Given the description of an element on the screen output the (x, y) to click on. 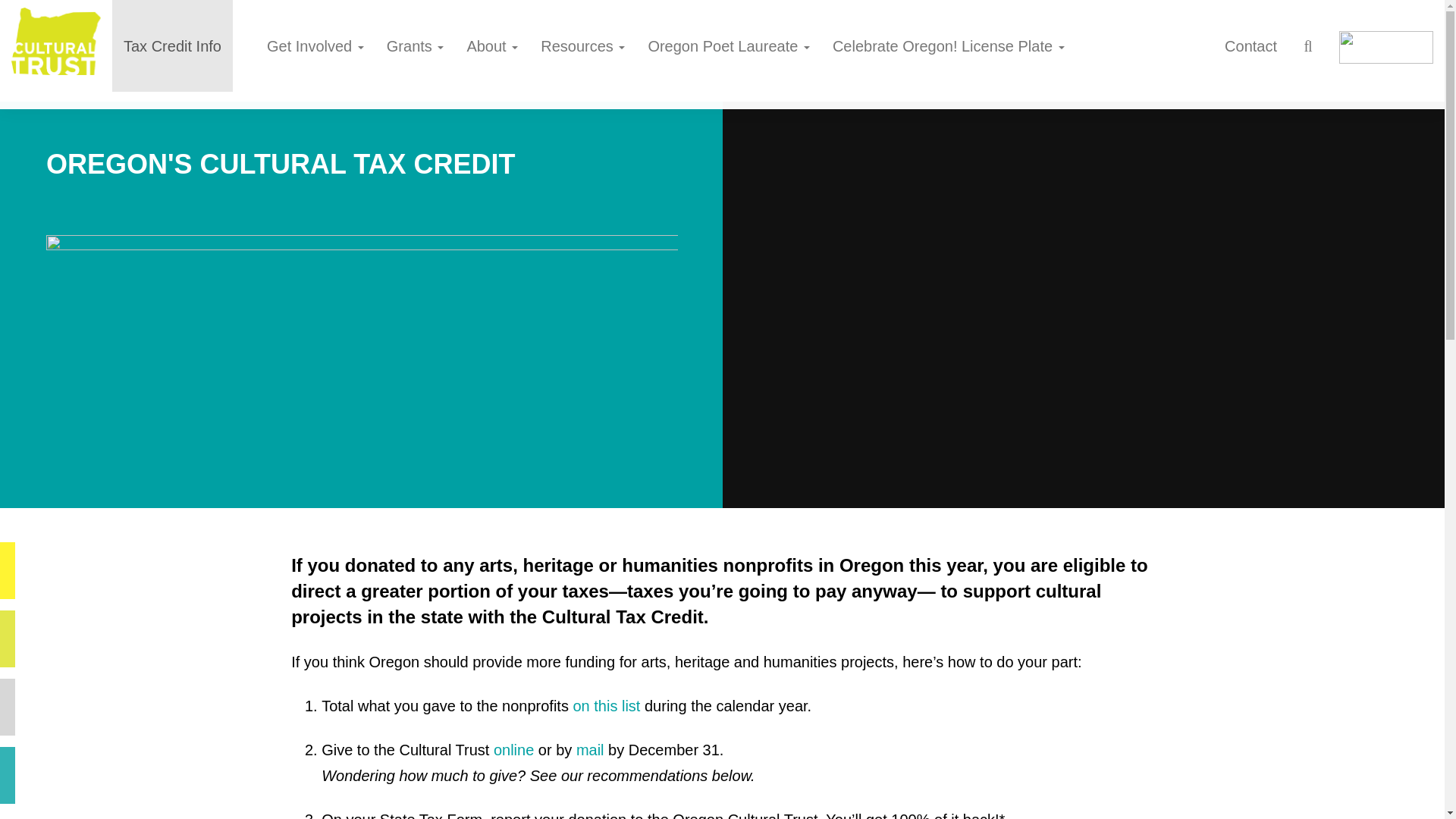
Resources (582, 45)
Get Involved (315, 45)
Go to Home (56, 45)
Tax Credit Info (172, 45)
Oregon Poet Laureate (728, 45)
Celebrate Oregon! License Plate (948, 45)
